Given the description of an element on the screen output the (x, y) to click on. 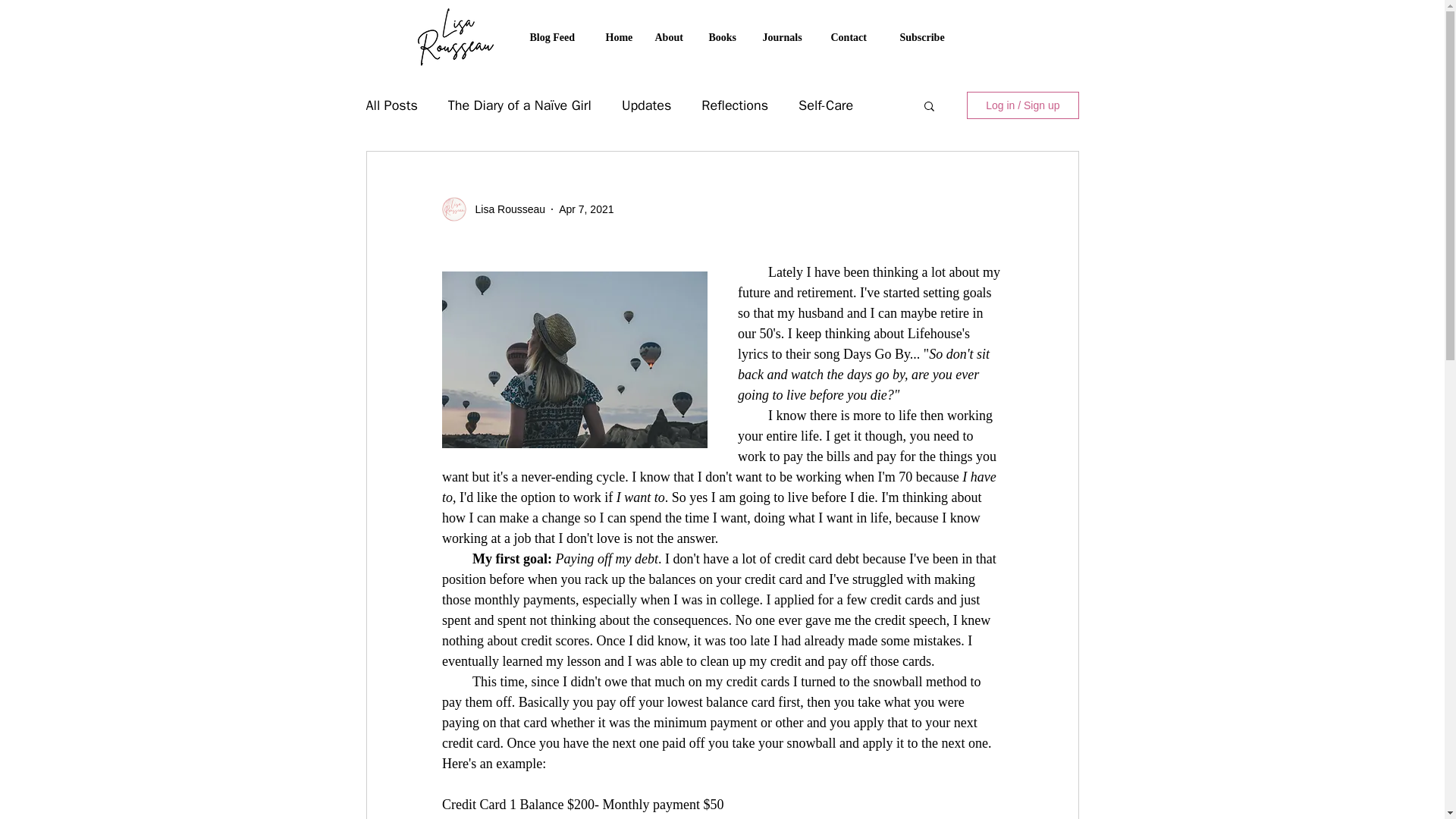
Self-Care (825, 105)
Books (727, 36)
Journals (789, 36)
Home (621, 36)
Lisa Rousseau (504, 209)
Reflections (734, 105)
Subscribe (927, 36)
Contact (858, 36)
All Posts (390, 105)
Blog Feed (558, 36)
Apr 7, 2021 (585, 209)
Updates (646, 105)
About (674, 36)
